Given the description of an element on the screen output the (x, y) to click on. 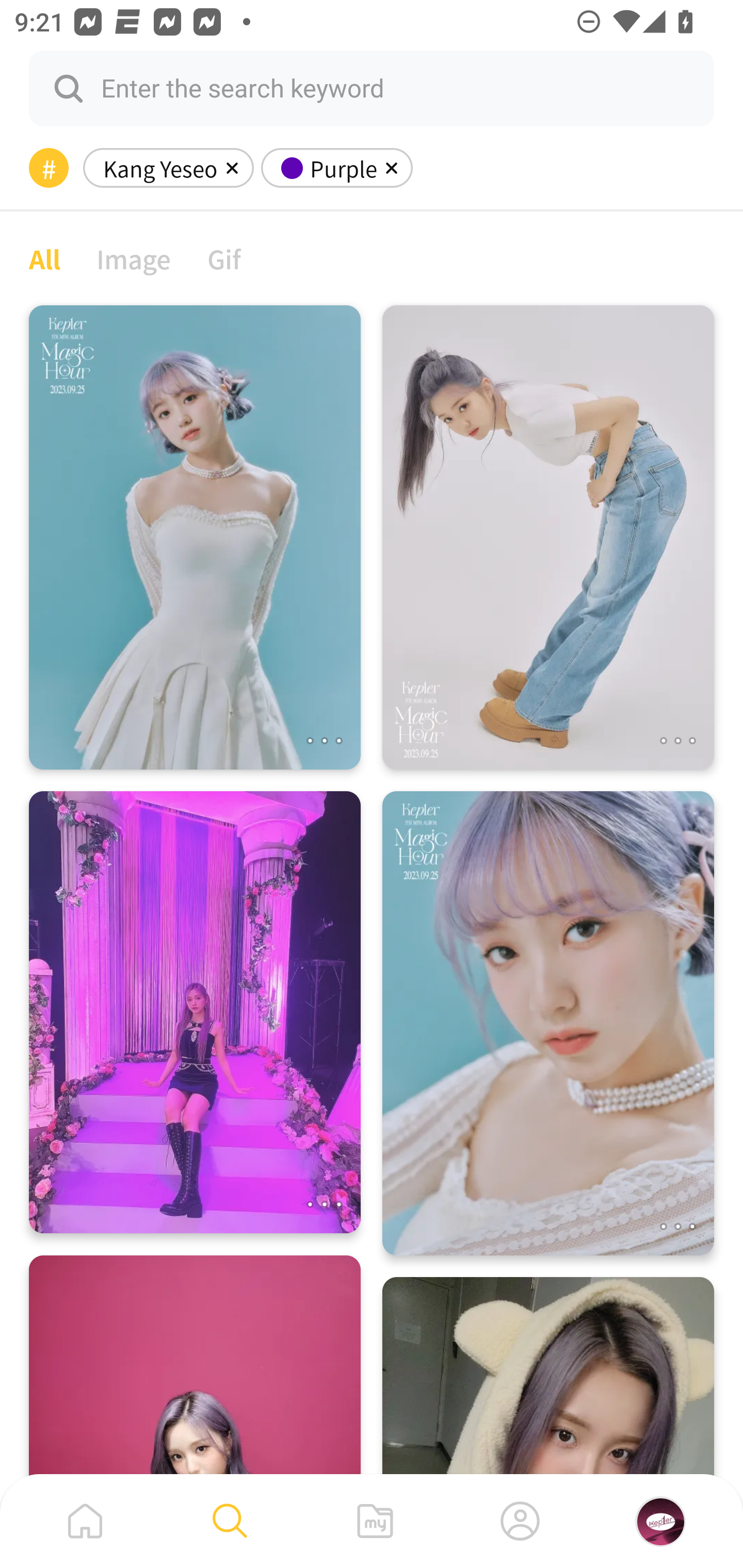
All (44, 257)
Image (133, 257)
Gif (223, 257)
